Given the description of an element on the screen output the (x, y) to click on. 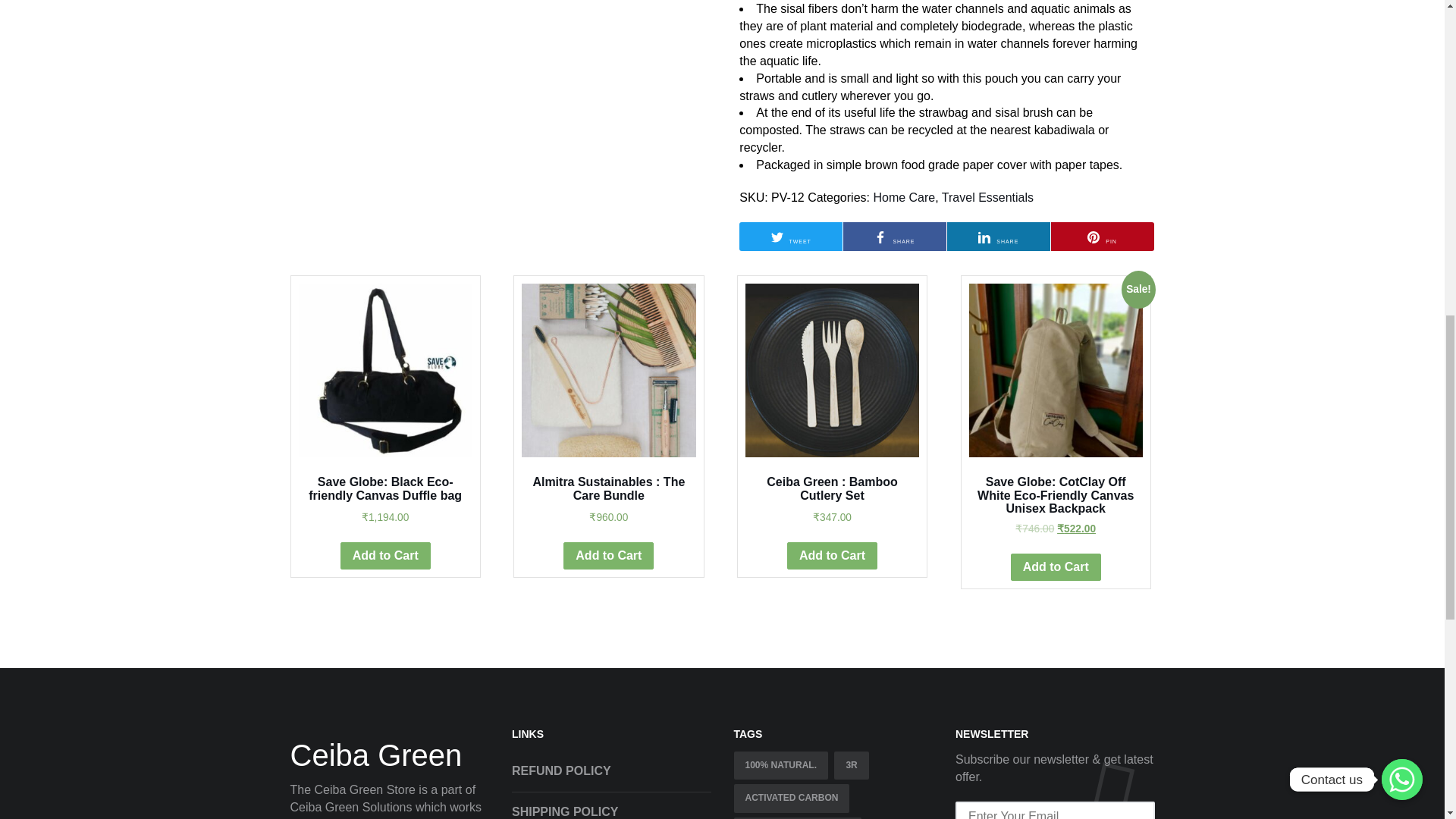
LINKEDIN (984, 236)
PINTEREST (1093, 236)
TWITTER (777, 236)
FACEBOOK (880, 236)
